Given the description of an element on the screen output the (x, y) to click on. 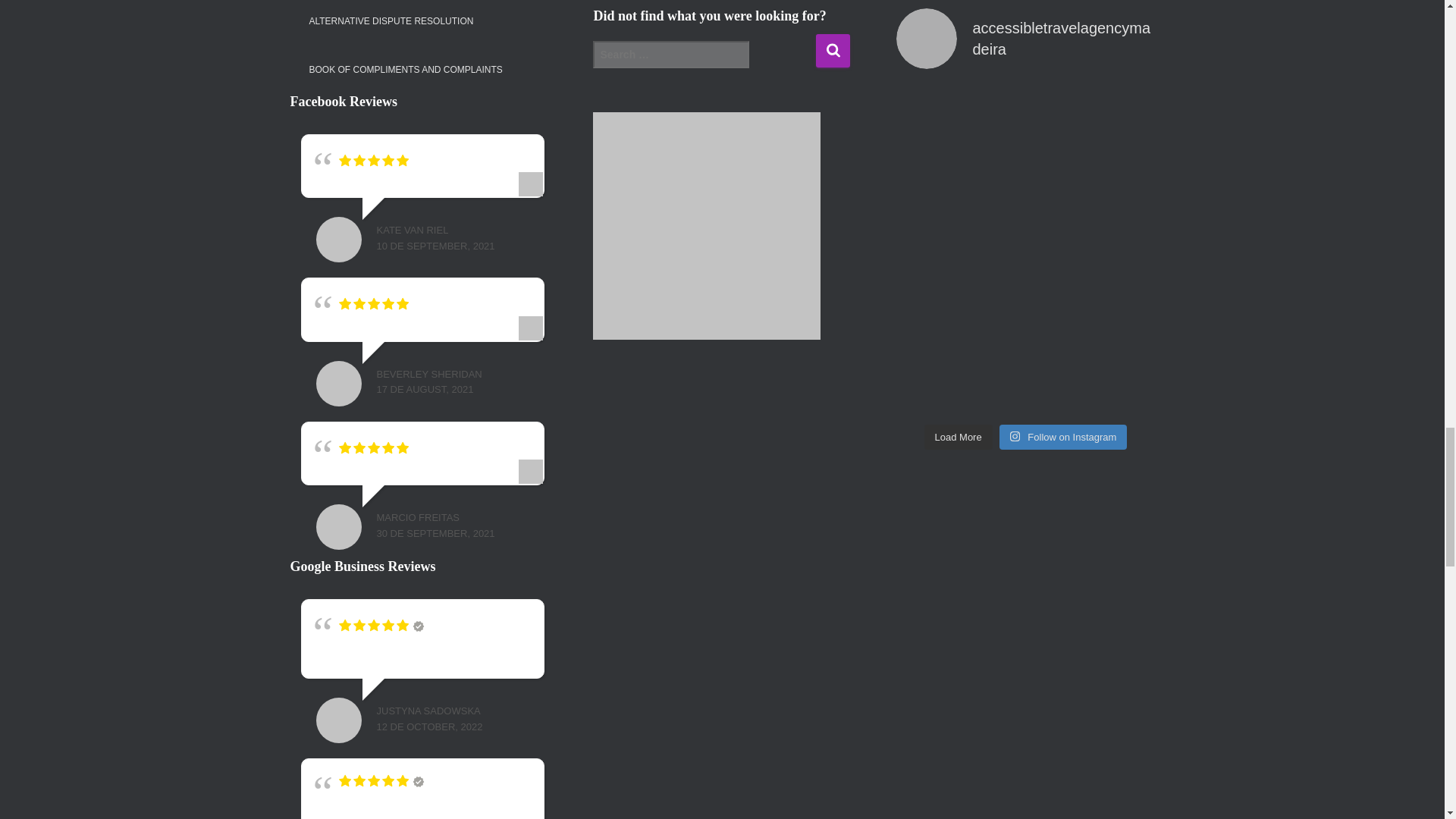
Search (832, 50)
Search (832, 50)
